Given the description of an element on the screen output the (x, y) to click on. 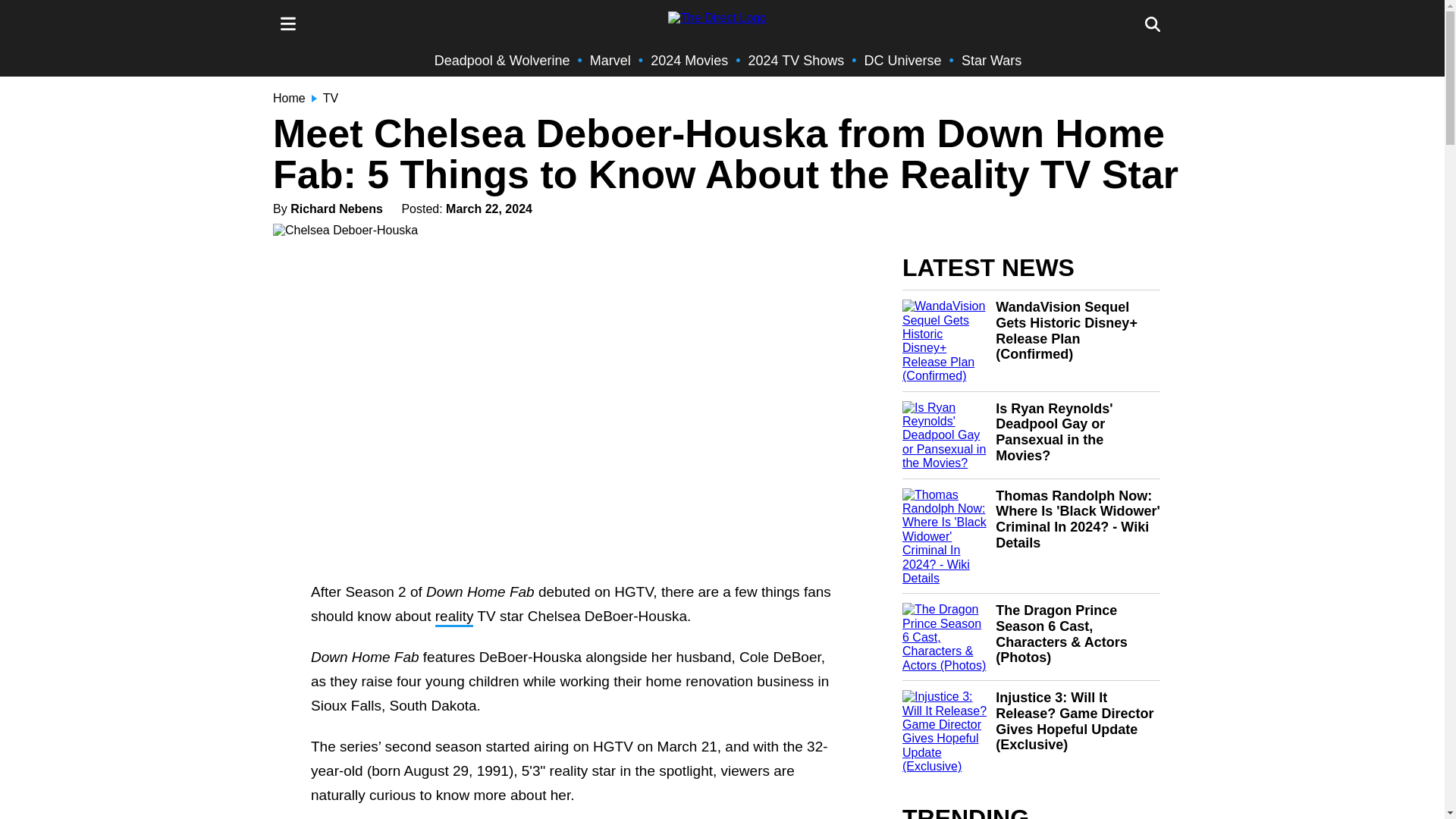
2024 Movies (689, 60)
2024 TV Shows (796, 60)
DC Universe (903, 60)
Marvel (609, 60)
Star Wars (991, 60)
